Given the description of an element on the screen output the (x, y) to click on. 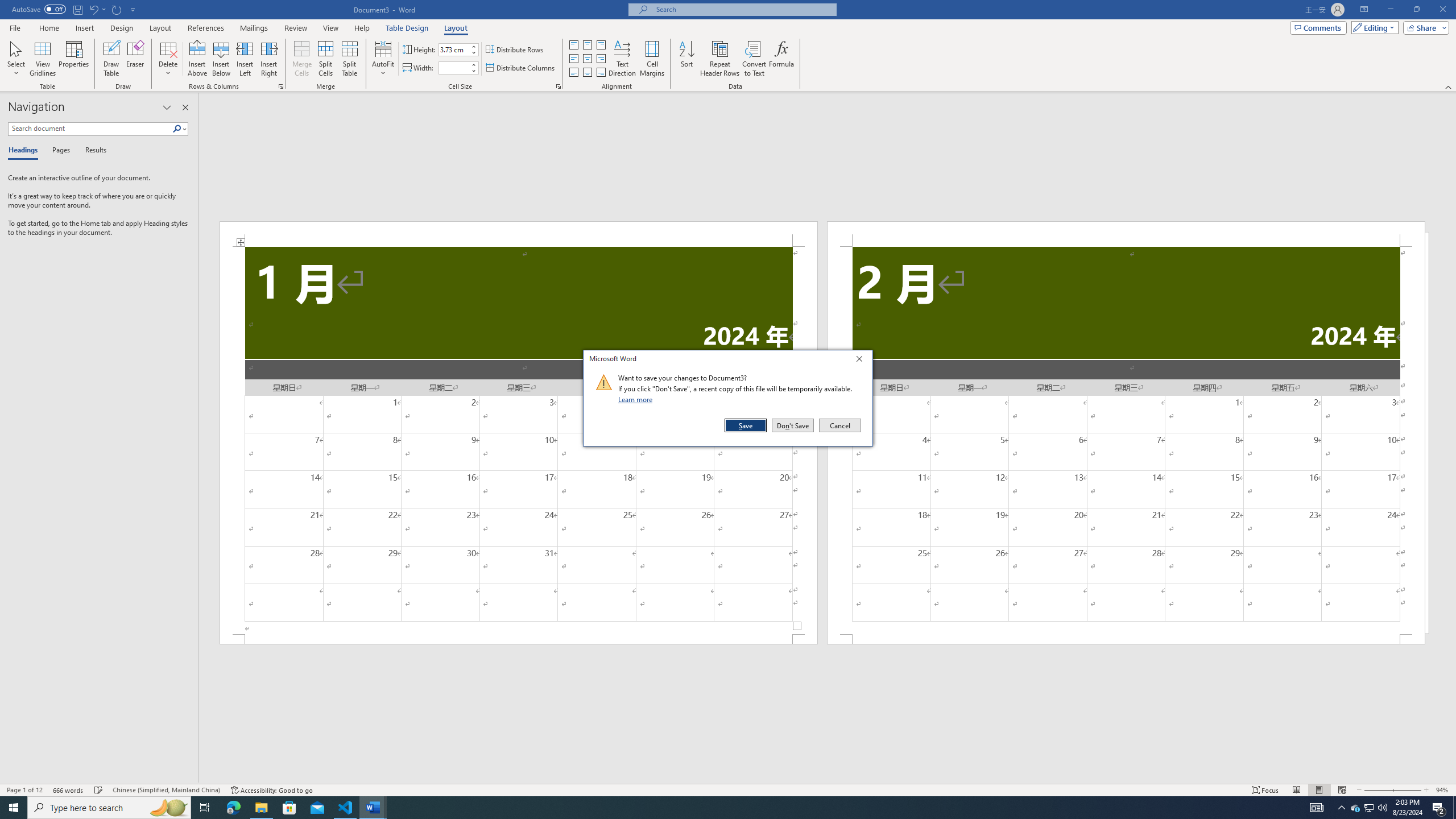
Repeat Doc Close (117, 9)
Align Bottom Center (587, 72)
Align Bottom Right (601, 72)
Notification Chevron (1341, 807)
Align Center (587, 58)
Undo Increase Indent (96, 9)
Distribute Rows (515, 49)
Show desktop (1454, 807)
Merge Cells (301, 58)
